Given the description of an element on the screen output the (x, y) to click on. 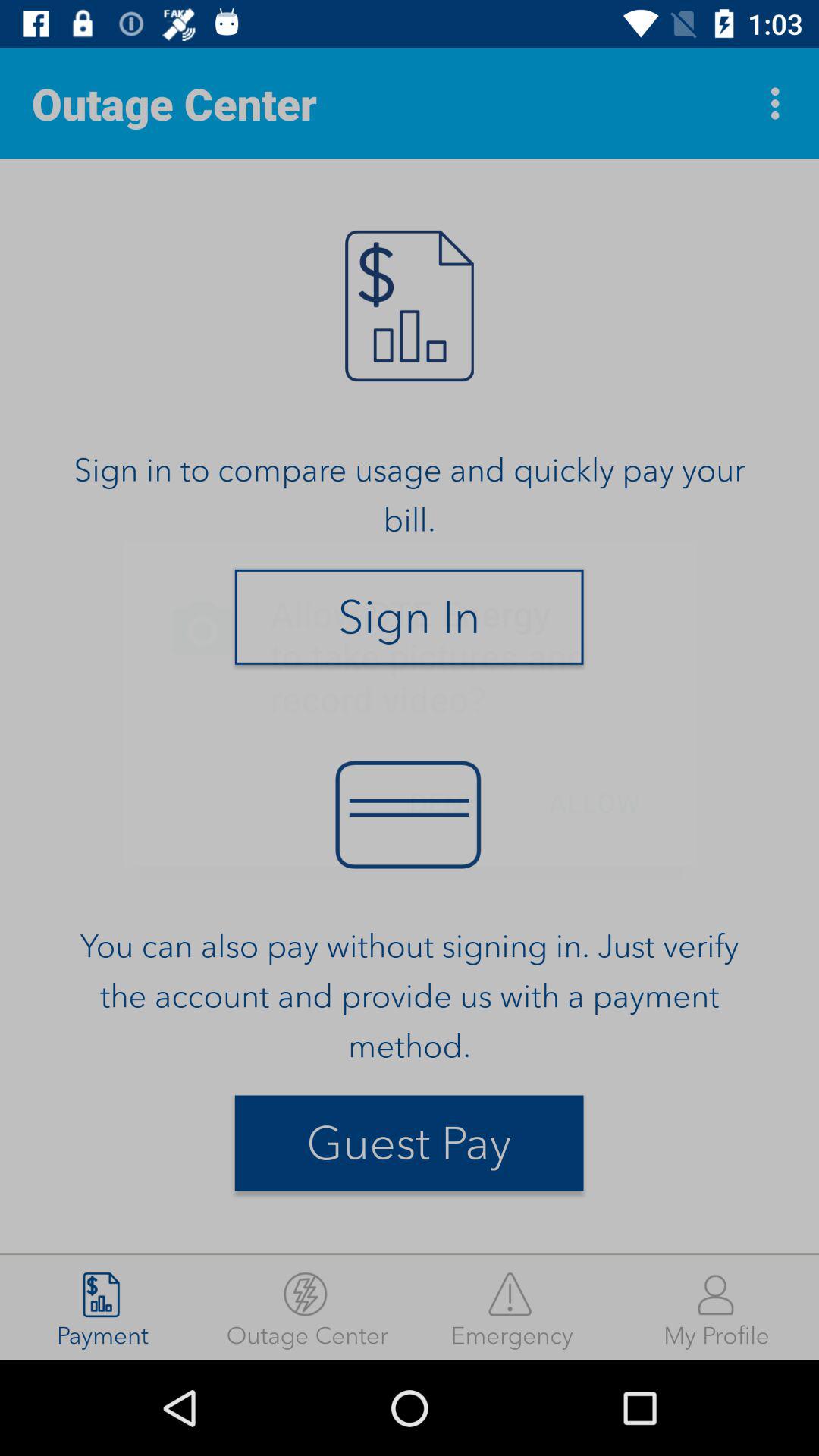
tap the icon next to the outage center item (779, 103)
